Given the description of an element on the screen output the (x, y) to click on. 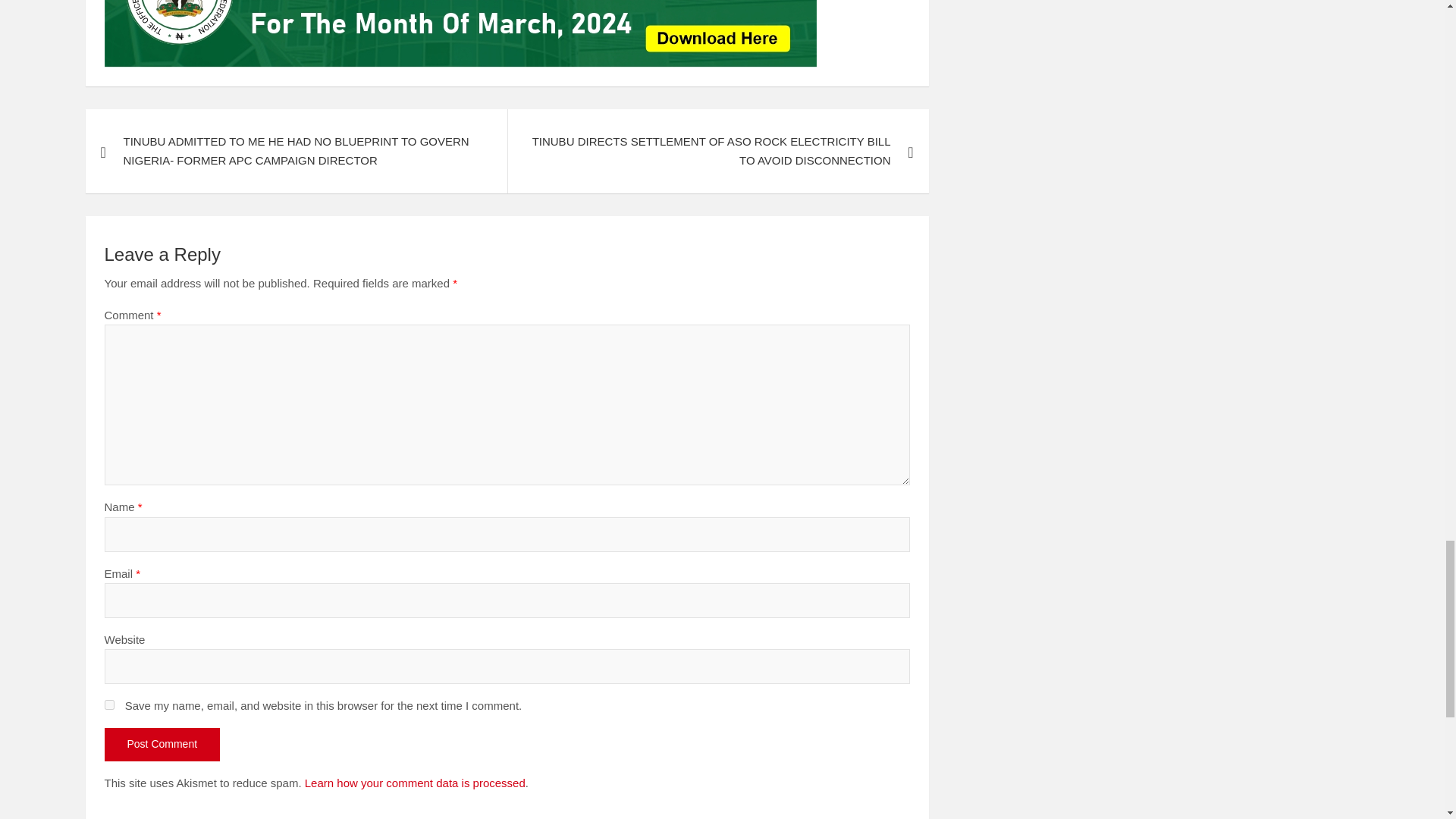
Learn how your comment data is processed (414, 782)
Post Comment (162, 744)
Post Comment (162, 744)
yes (109, 705)
